Given the description of an element on the screen output the (x, y) to click on. 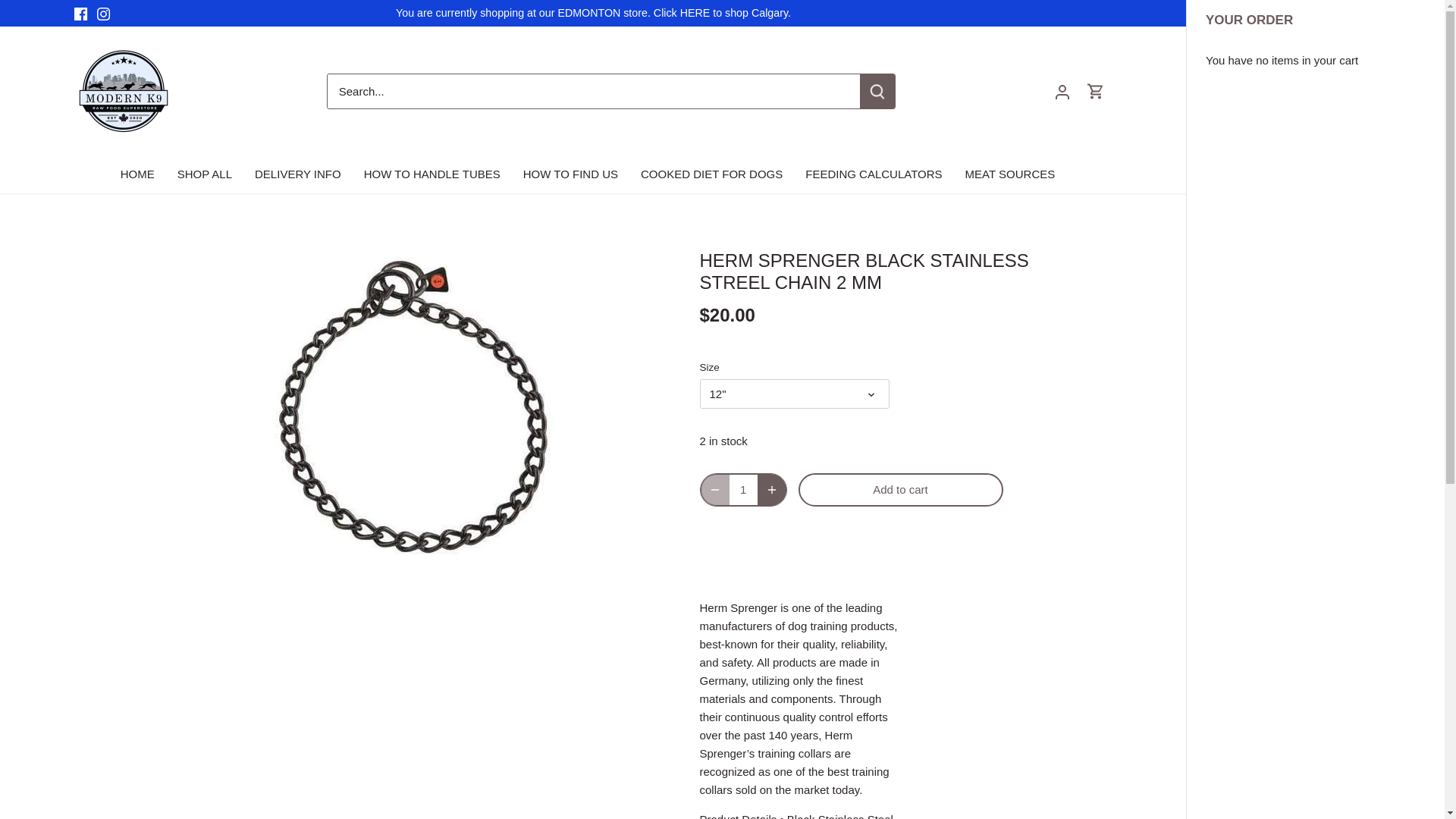
HOW TO FIND US (570, 174)
FEEDING CALCULATORS (873, 174)
1 (743, 490)
DELIVERY INFO (297, 174)
HOW TO HANDLE TUBES (432, 174)
HOME (142, 174)
MEAT SOURCES (1010, 174)
SHOP ALL (204, 174)
Facebook (80, 13)
Instagram (103, 13)
COOKED DIET FOR DOGS (710, 174)
Add to cart (900, 489)
